Given the description of an element on the screen output the (x, y) to click on. 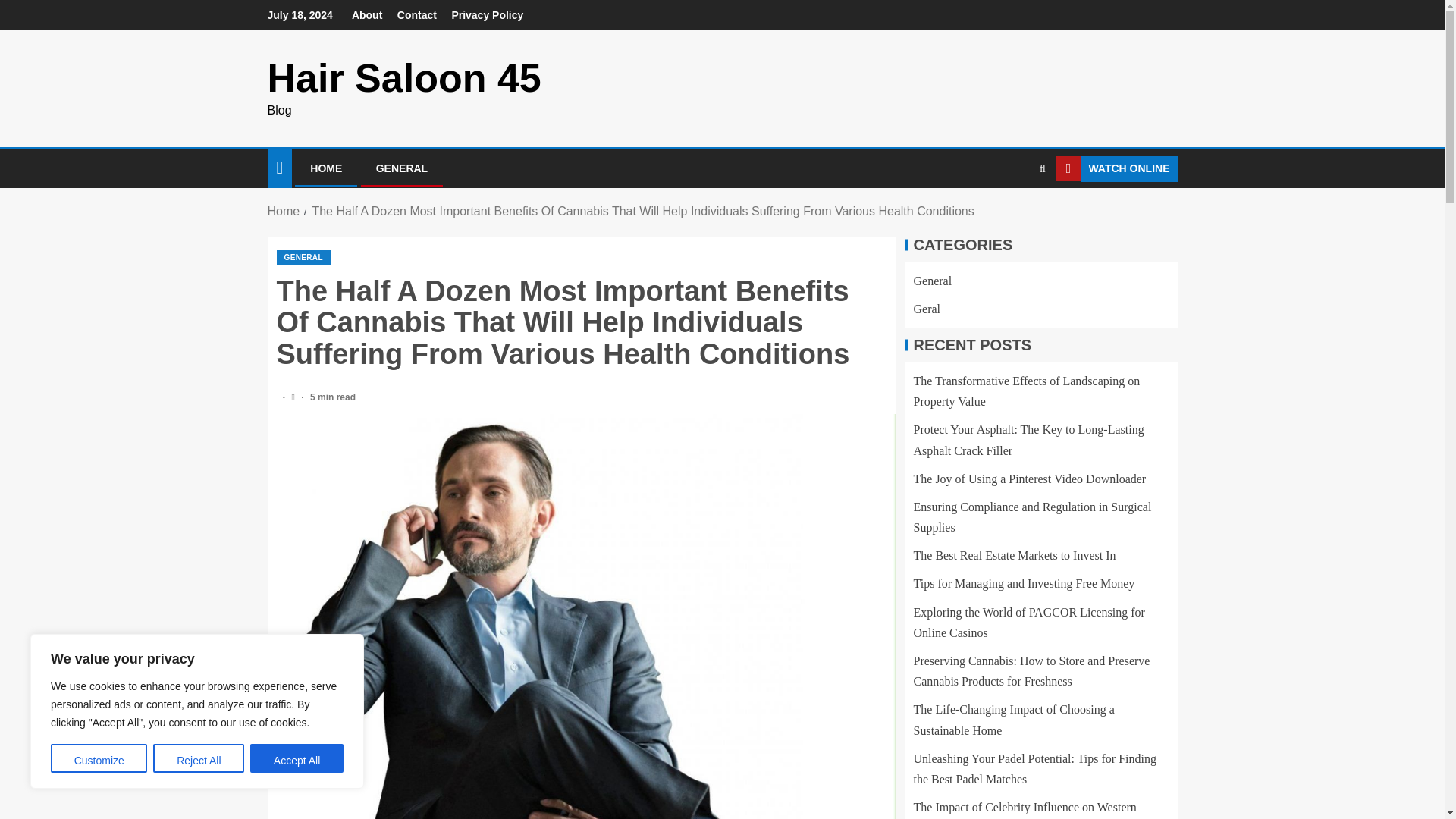
Search (1041, 168)
HOME (326, 168)
Reject All (198, 758)
Customize (98, 758)
Hair Saloon 45 (403, 77)
About (366, 15)
Contact (416, 15)
Privacy Policy (486, 15)
GENERAL (401, 168)
WATCH ONLINE (1115, 168)
Home (282, 210)
GENERAL (303, 257)
Accept All (296, 758)
